Given the description of an element on the screen output the (x, y) to click on. 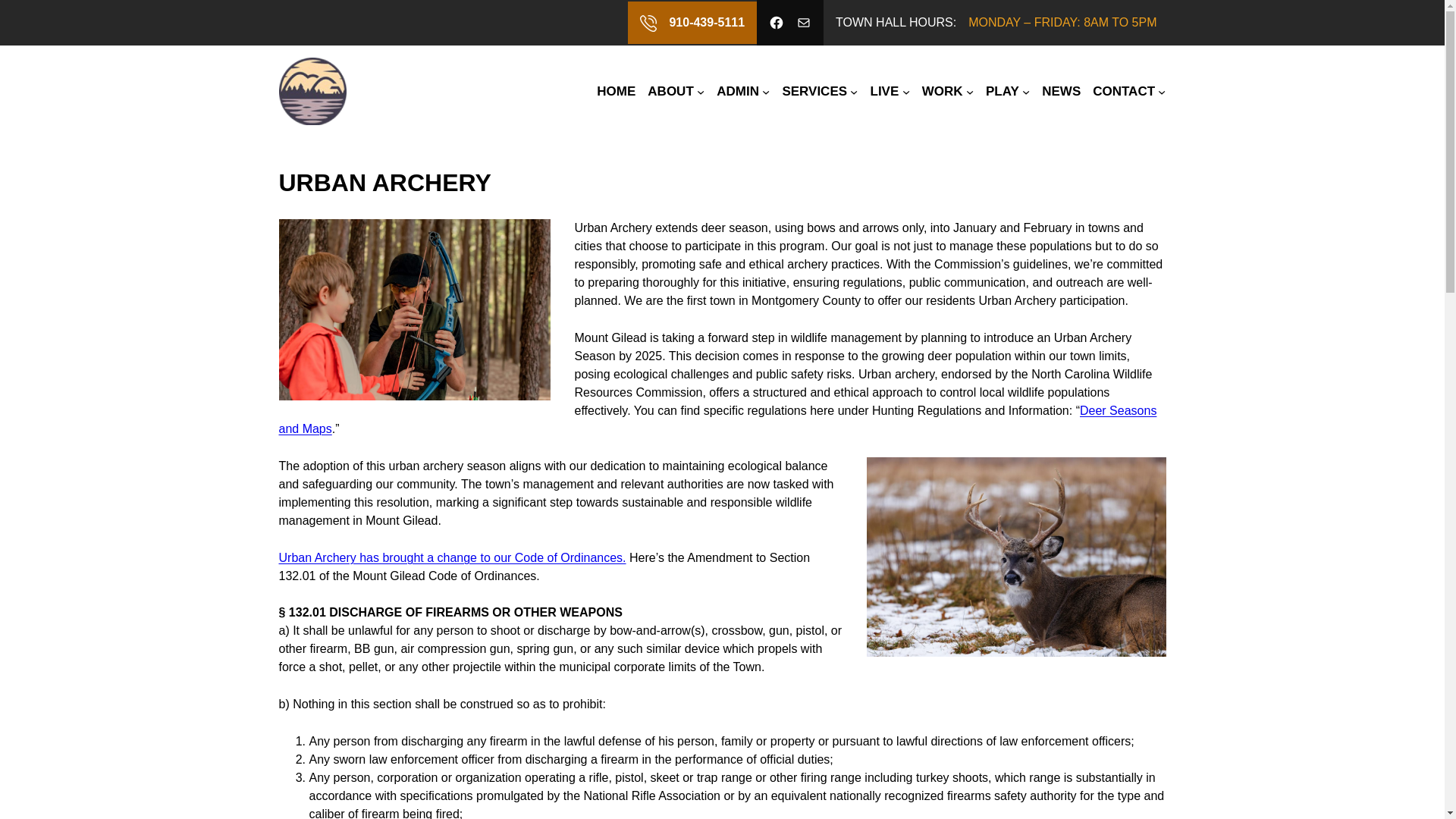
ADMIN (737, 91)
LIVE (884, 91)
WORK (941, 91)
SERVICES (814, 91)
Facebook (776, 22)
ABOUT (670, 91)
Mail (803, 22)
HOME (615, 91)
